Given the description of an element on the screen output the (x, y) to click on. 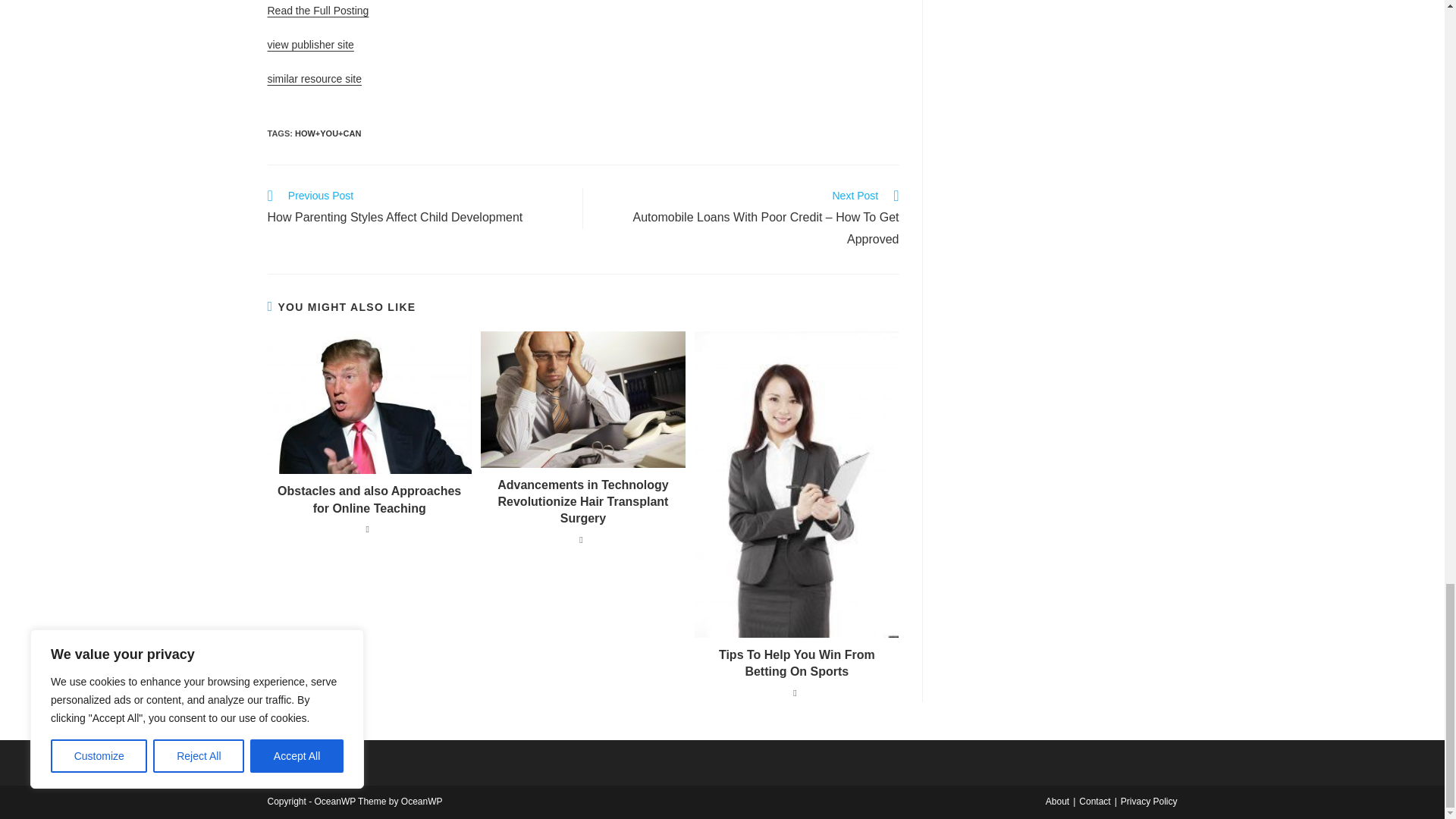
similar resource site (313, 78)
Read the Full Posting (416, 208)
view publisher site (317, 10)
